Given the description of an element on the screen output the (x, y) to click on. 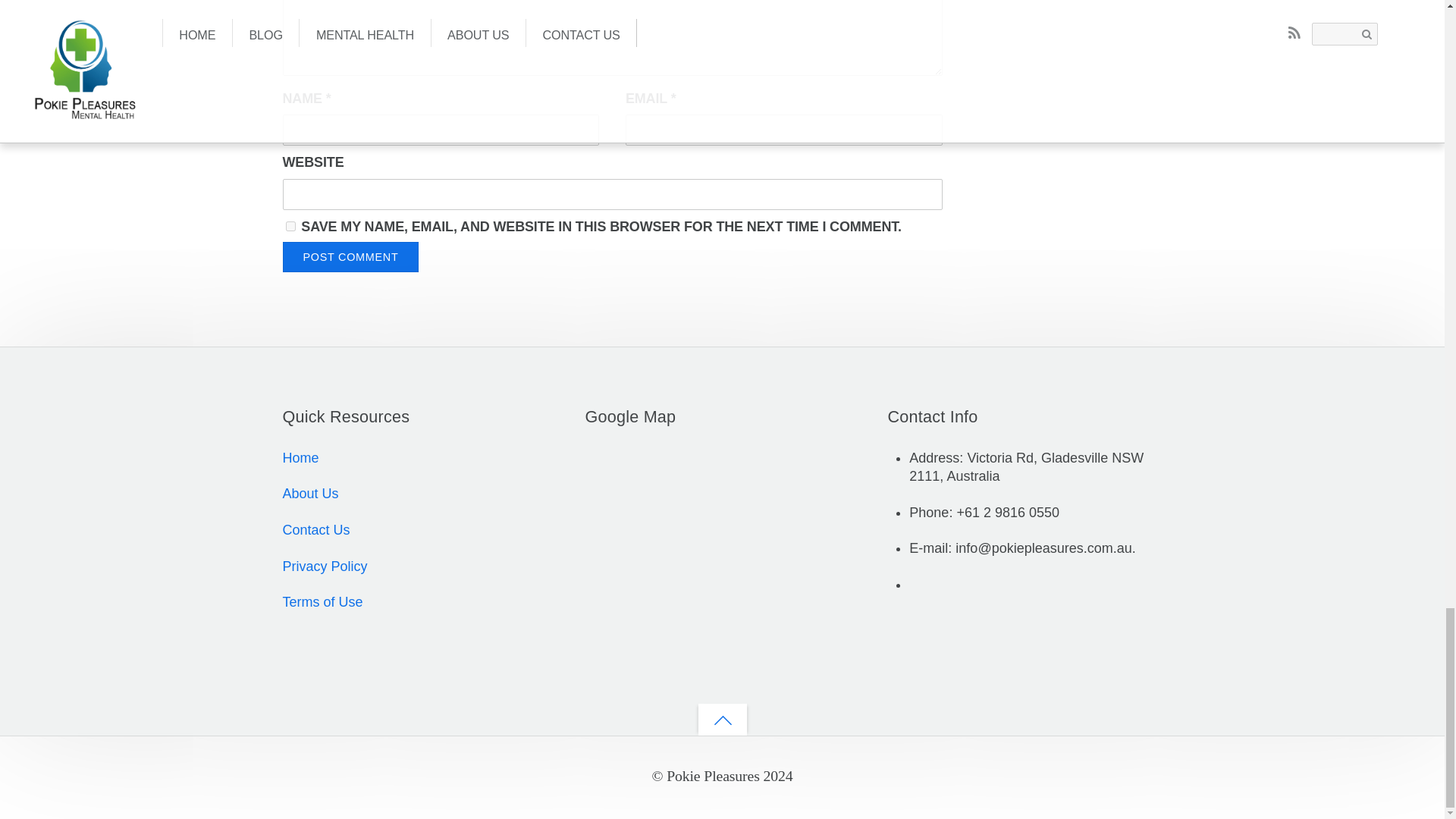
Post Comment (350, 256)
Home (300, 458)
Post Comment (350, 256)
yes (290, 225)
